Given the description of an element on the screen output the (x, y) to click on. 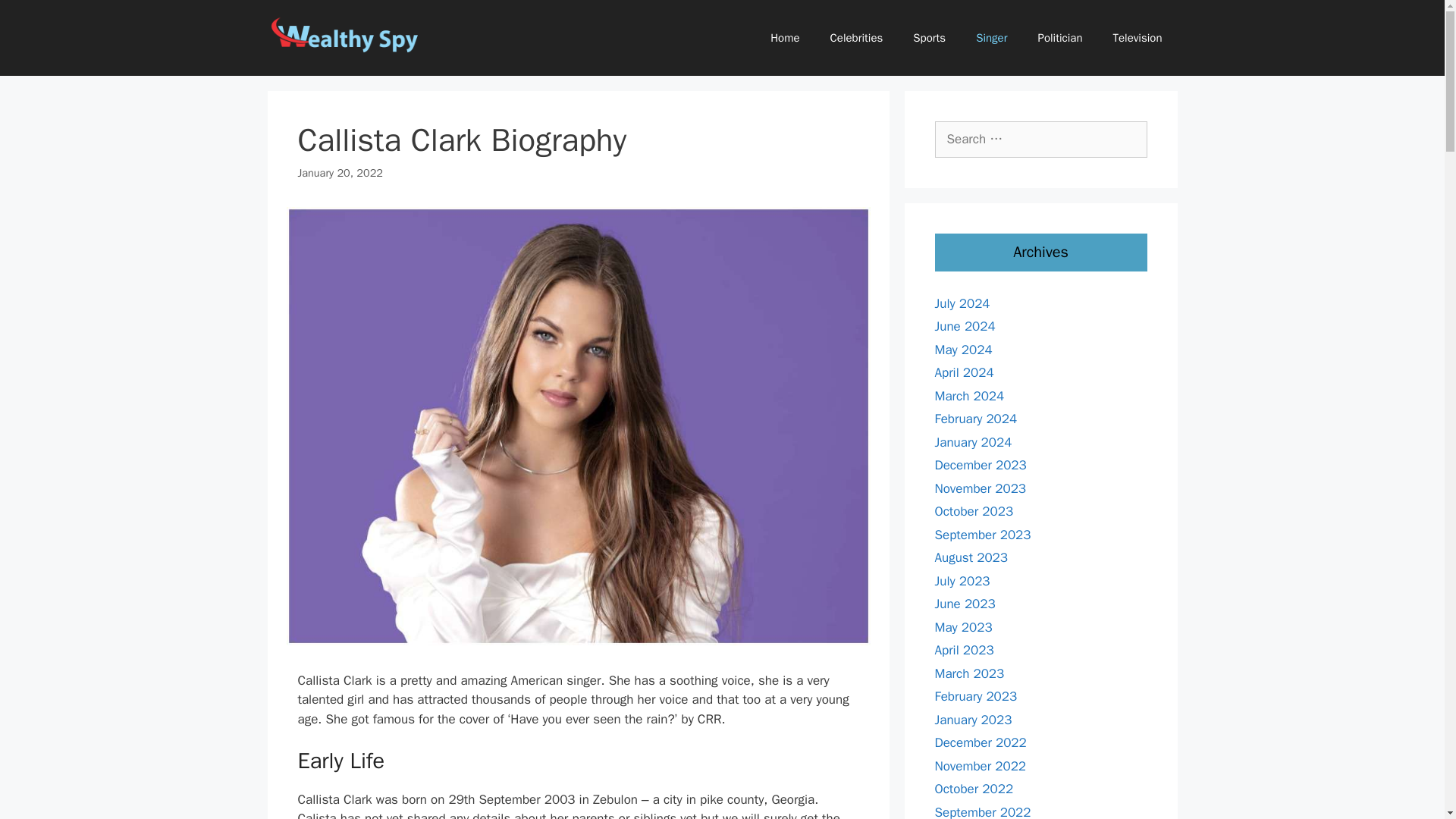
October 2023 (973, 511)
Television (1137, 37)
Home (784, 37)
December 2023 (980, 465)
March 2024 (969, 396)
April 2024 (963, 372)
November 2023 (980, 488)
Search (35, 18)
September 2023 (982, 534)
Singer (991, 37)
June 2024 (964, 326)
May 2024 (962, 349)
February 2024 (975, 418)
July 2024 (962, 303)
Politician (1059, 37)
